Given the description of an element on the screen output the (x, y) to click on. 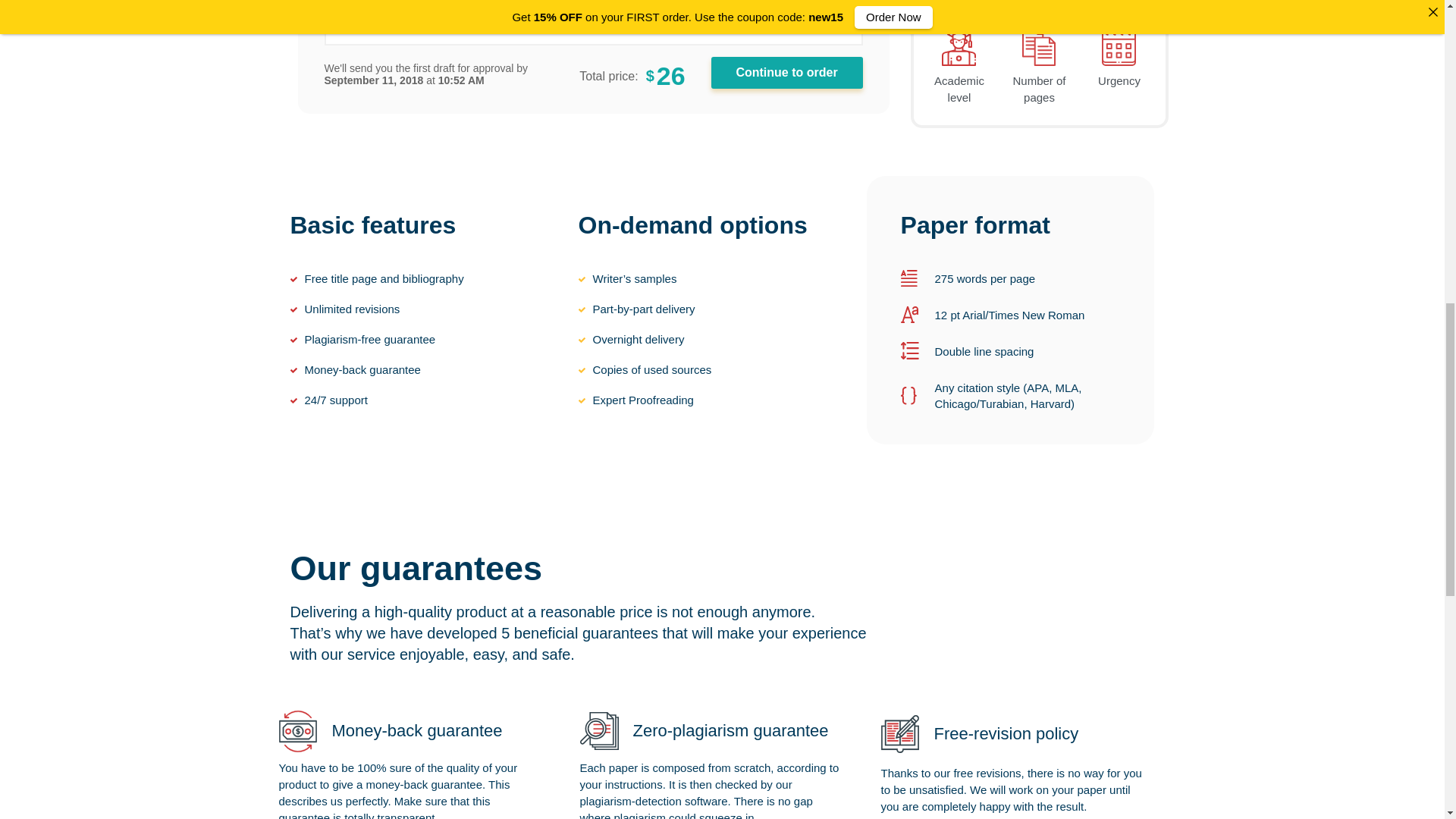
Continue to Order (787, 72)
Continue to order (787, 72)
Continue to order (787, 72)
